Given the description of an element on the screen output the (x, y) to click on. 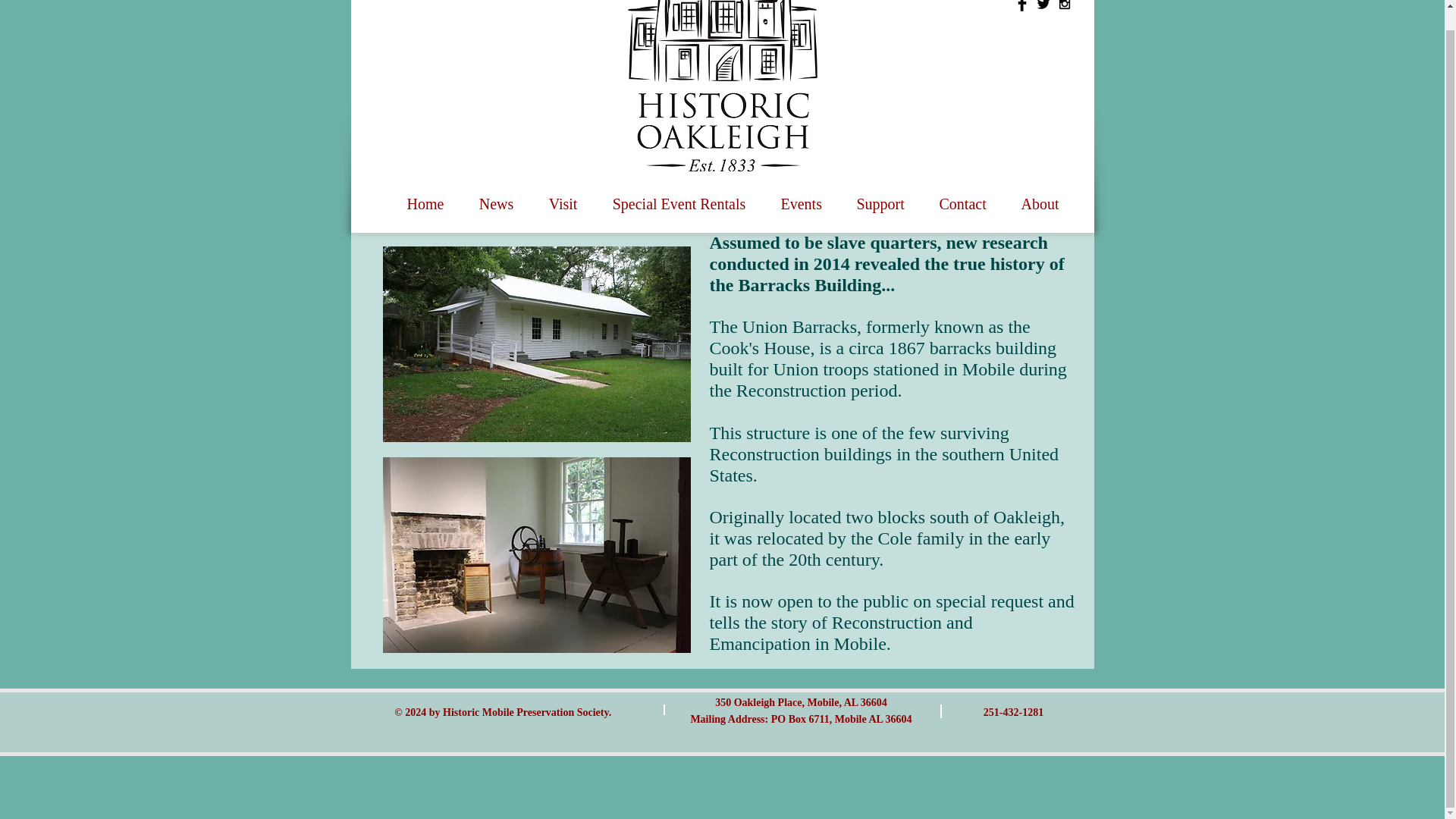
Historic Oakleigh Logo copy.png (721, 85)
Special Event Rentals (678, 197)
News (496, 197)
Contact (962, 197)
Visit (562, 197)
Home (425, 197)
Facebook Like (1046, 50)
